Given the description of an element on the screen output the (x, y) to click on. 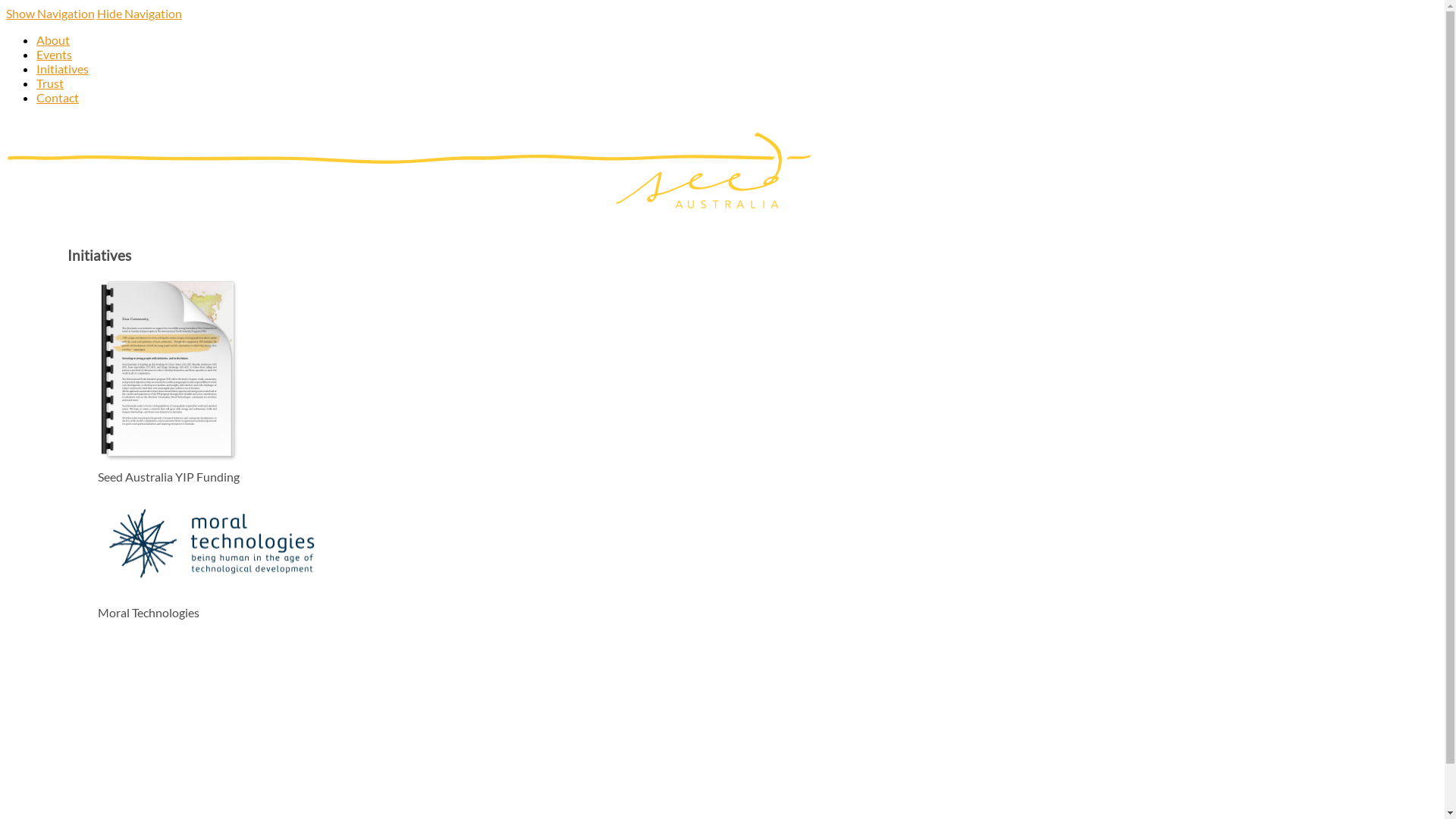
Trust Element type: text (49, 82)
About Element type: text (52, 39)
Show Navigation Element type: text (50, 13)
Events Element type: text (54, 54)
Contact Element type: text (57, 97)
Hide Navigation Element type: text (139, 13)
Initiatives Element type: text (62, 68)
